Given the description of an element on the screen output the (x, y) to click on. 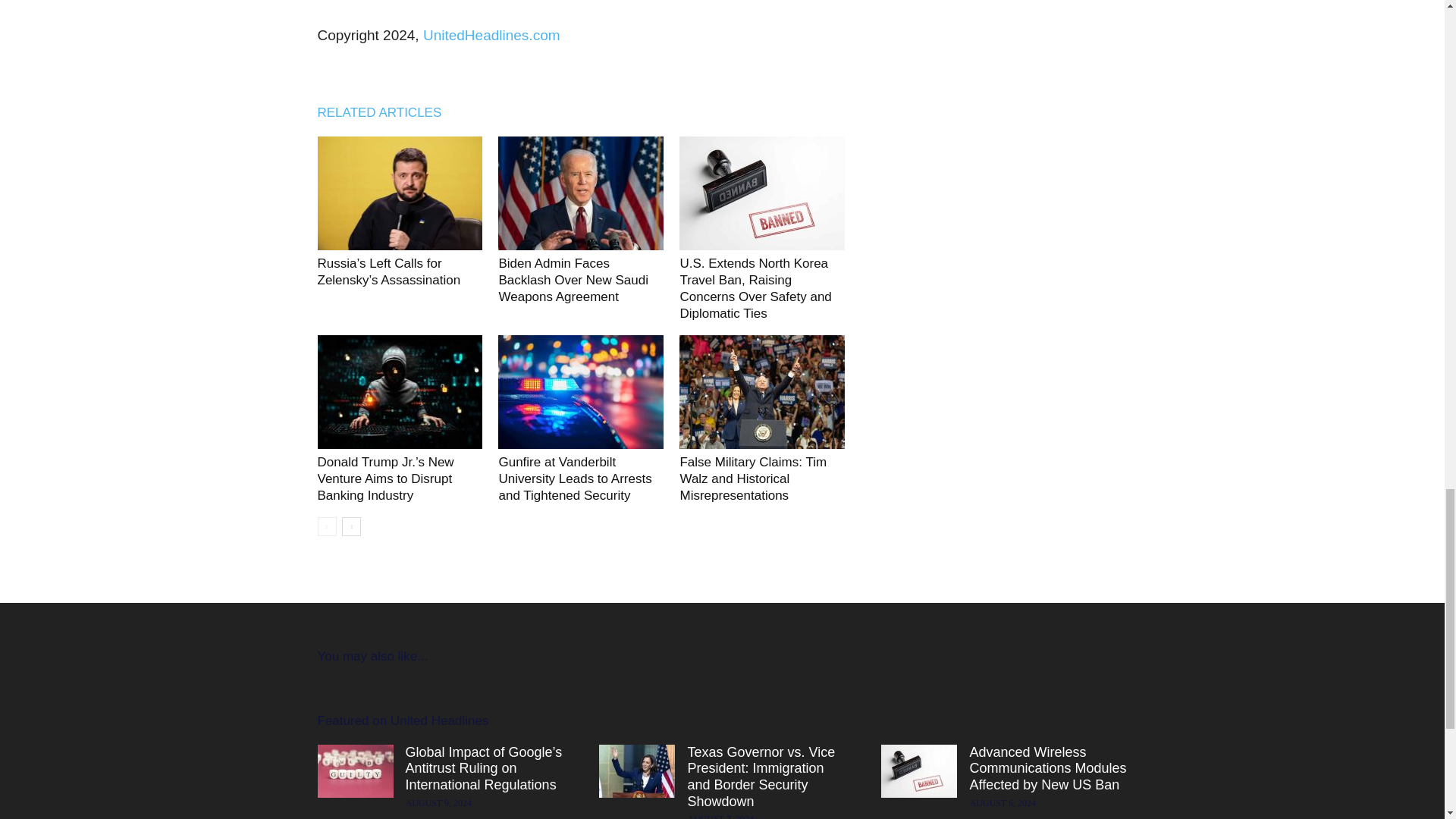
Biden Admin Faces Backlash Over New Saudi Weapons Agreement (580, 193)
UnitedHeadlines.com (489, 35)
Biden Admin Faces Backlash Over New Saudi Weapons Agreement (572, 279)
Biden Admin Faces Backlash Over New Saudi Weapons Agreement (572, 279)
RELATED ARTICLES (387, 112)
